Given the description of an element on the screen output the (x, y) to click on. 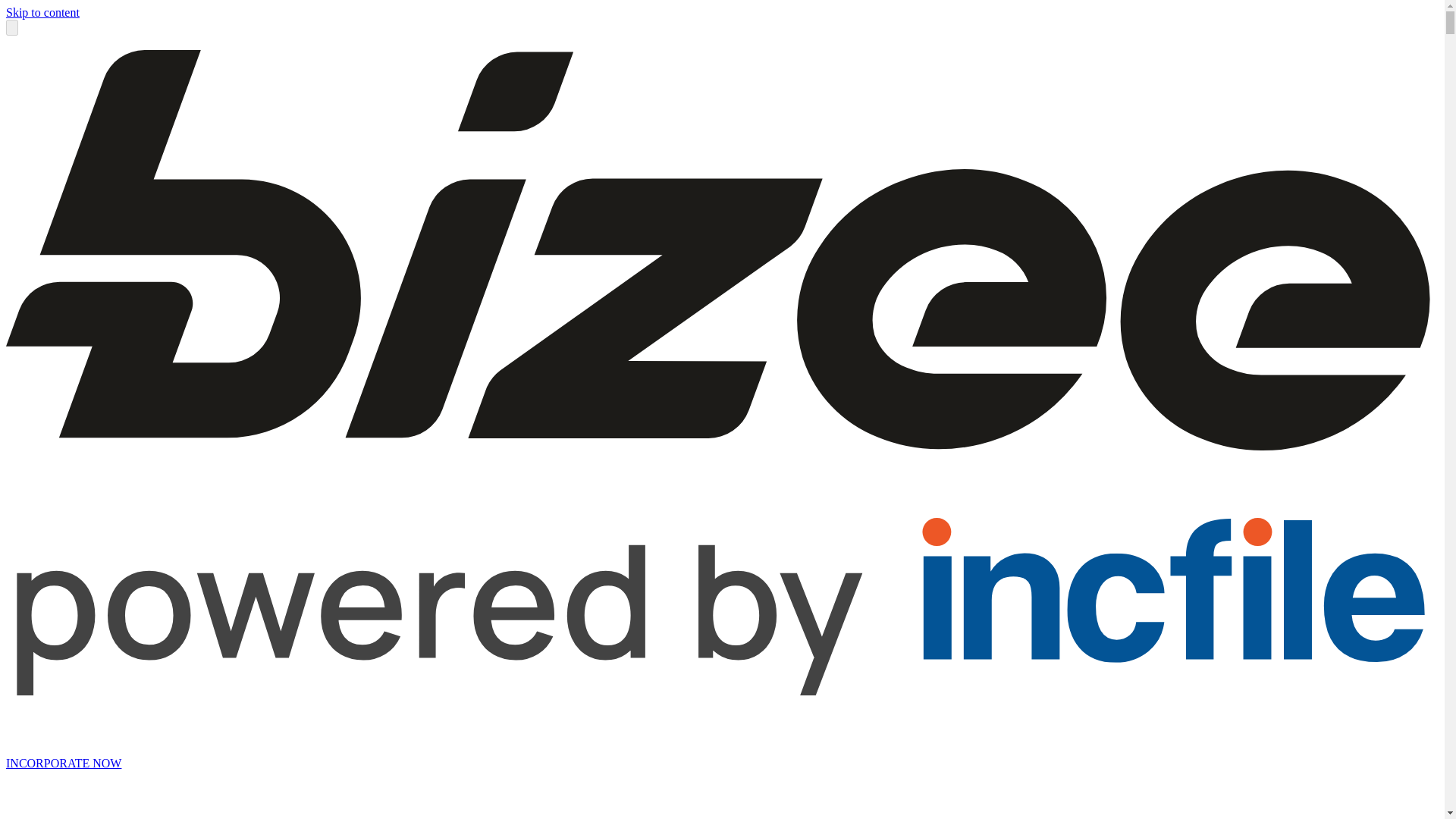
INCORPORATE NOW (62, 762)
